Given the description of an element on the screen output the (x, y) to click on. 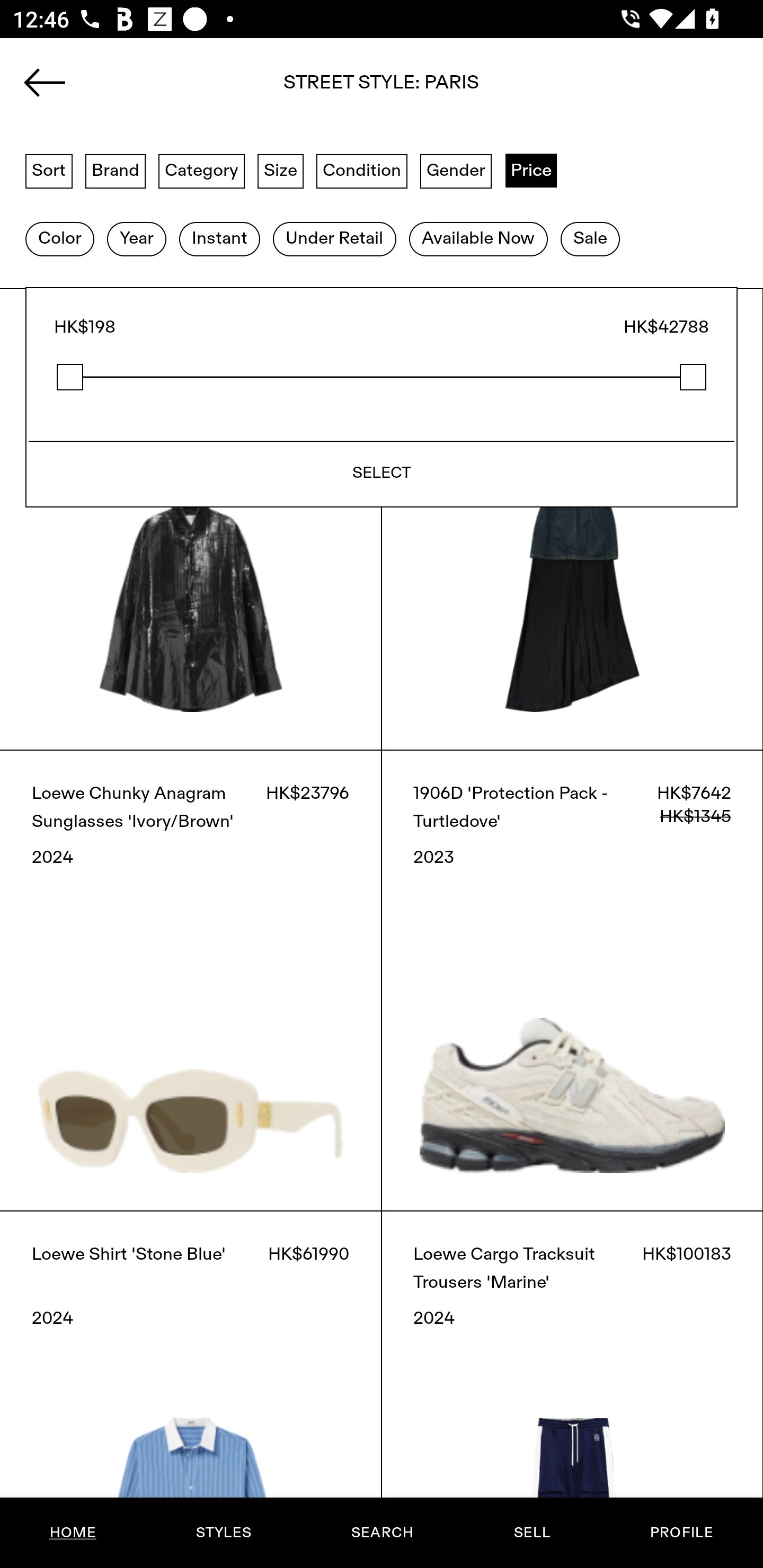
Search (381, 88)
Sort (48, 170)
Brand (115, 170)
Category (201, 170)
Size (280, 170)
Condition (361, 170)
Gender (455, 170)
Price (530, 170)
Color (59, 239)
Year (136, 239)
Instant (219, 239)
Under Retail (334, 239)
Available Now (477, 239)
Sale (589, 239)
198.0 Range start,198 42788.0 Range end,42788 (381, 376)
SELECT (381, 473)
Loewe Shirt 'Stone Blue' HK$61990 2024 (190, 1389)
HOME (72, 1532)
STYLES (222, 1532)
SEARCH (381, 1532)
SELL (531, 1532)
PROFILE (681, 1532)
